Given the description of an element on the screen output the (x, y) to click on. 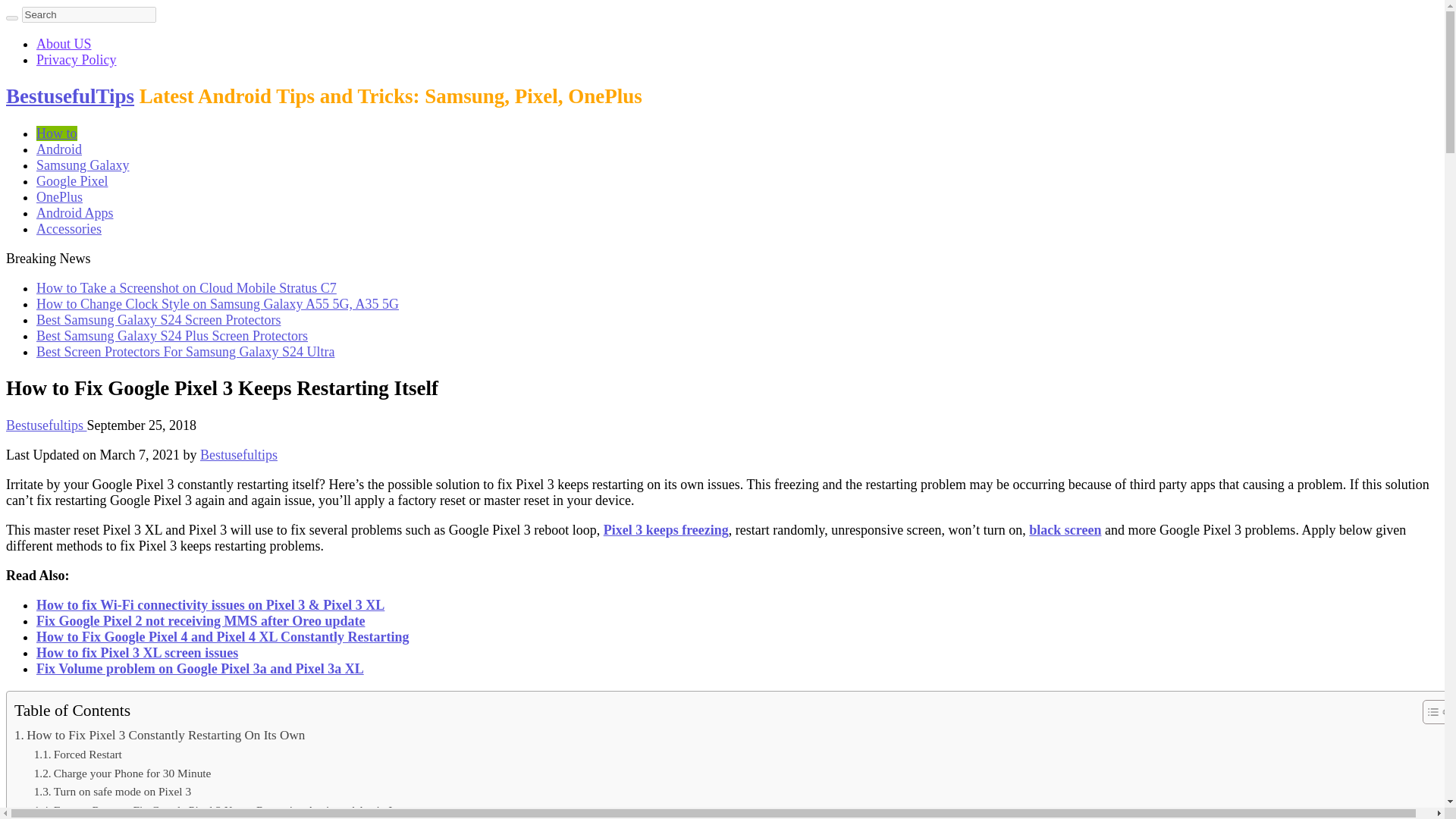
How to Take a Screenshot on Cloud Mobile Stratus C7 (186, 287)
Best Screen Protectors For Samsung Galaxy S24 Ultra (185, 351)
Search (88, 14)
Bestusefultips (46, 425)
How to Change Clock Style on Samsung Galaxy A55 5G, A35 5G (217, 304)
Best Samsung Galaxy S24 Plus Screen Protectors (171, 335)
Best Samsung Galaxy S24 Screen Protectors (158, 319)
Fix Volume problem on Google Pixel 3a and Pixel 3a XL (200, 668)
Android Apps (74, 212)
Turn on safe mode on Pixel 3 (112, 791)
